Given the description of an element on the screen output the (x, y) to click on. 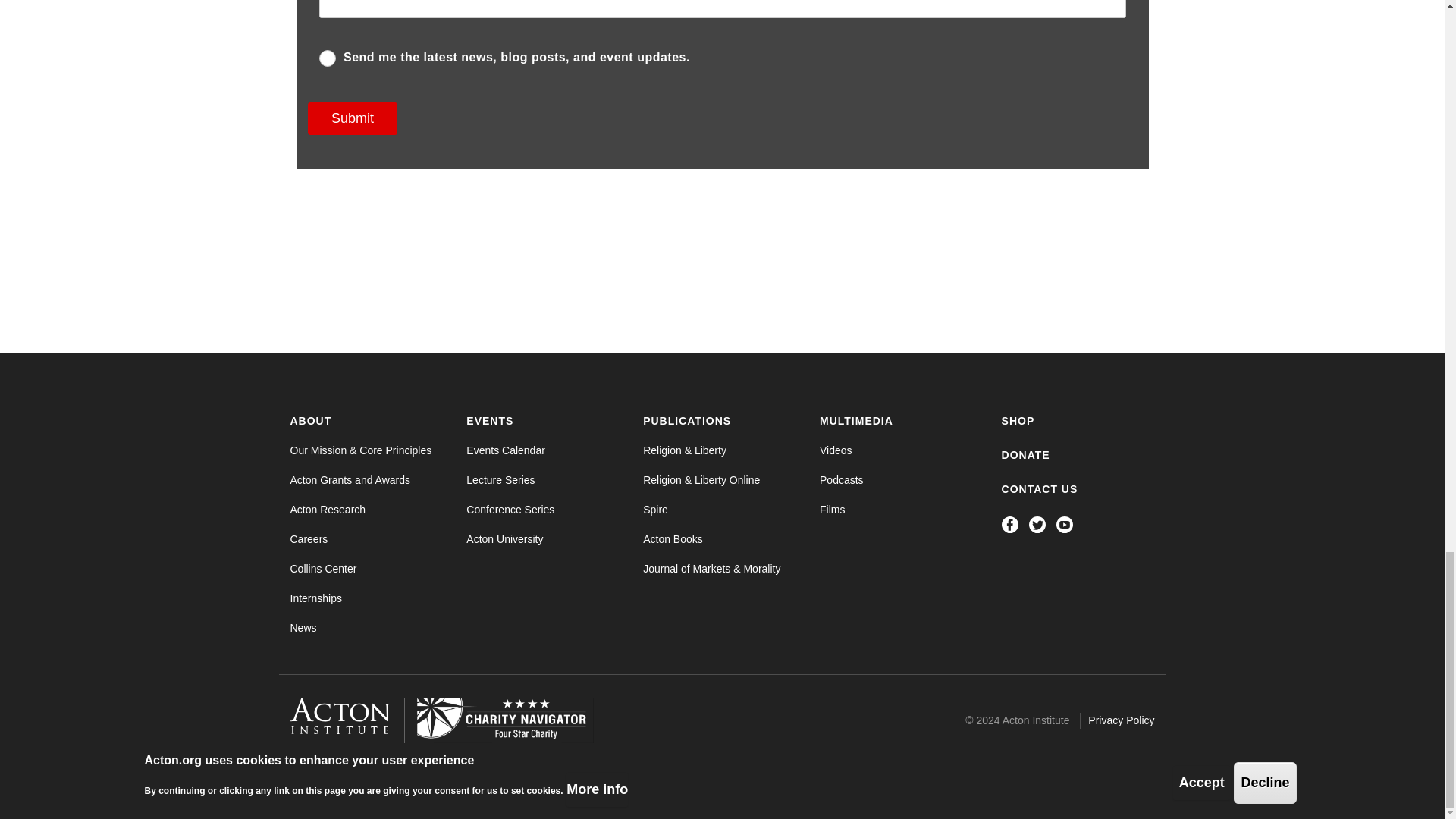
Events (489, 420)
